Given the description of an element on the screen output the (x, y) to click on. 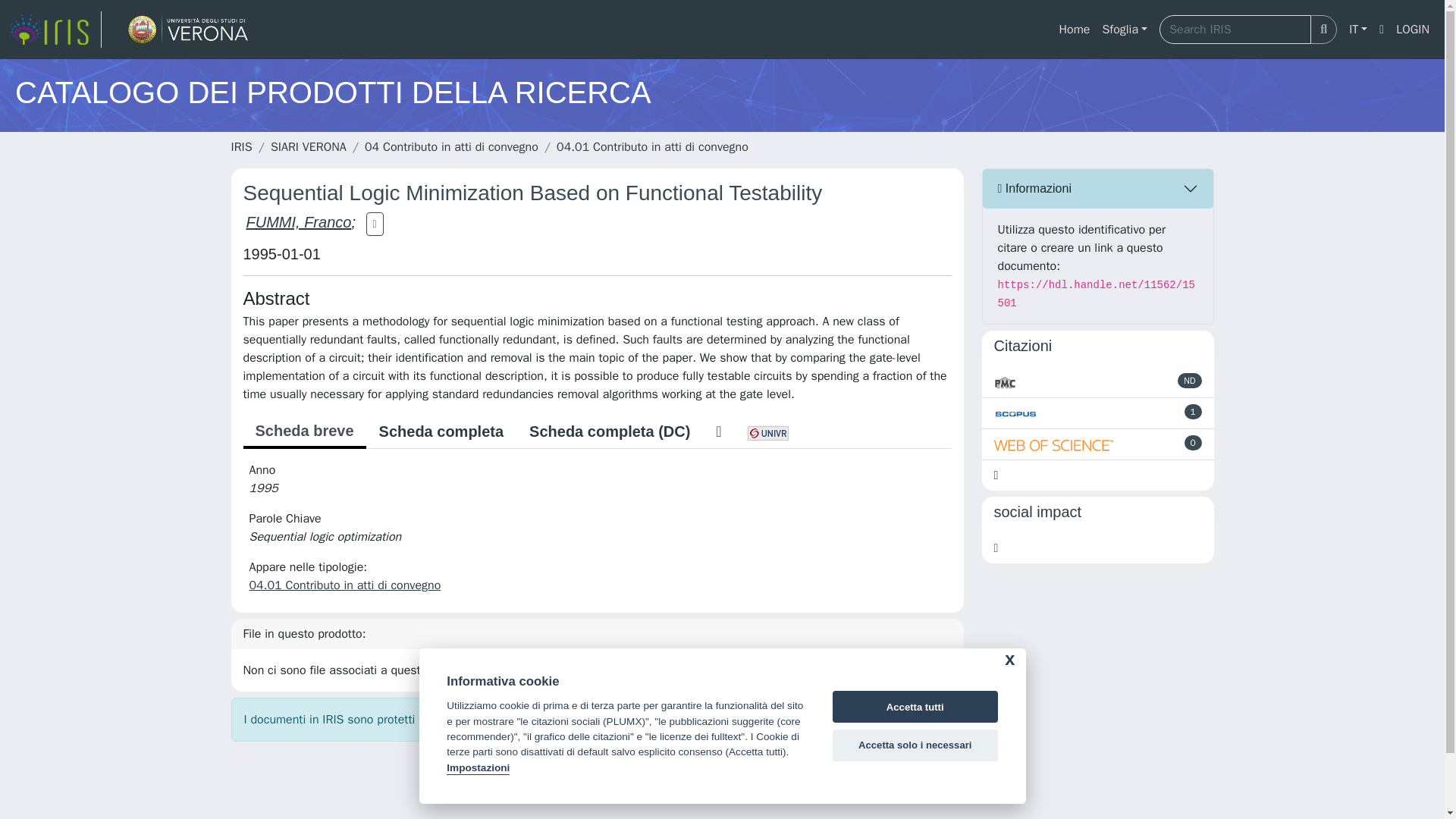
04 Contributo in atti di convegno (451, 146)
Sfoglia (1124, 29)
Scheda completa (441, 431)
FUMMI, Franco (298, 221)
IT (1357, 29)
Home (1074, 29)
SIARI VERONA (308, 146)
LOGIN (1412, 29)
04.01 Contributo in atti di convegno (344, 585)
04.01 Contributo in atti di convegno (652, 146)
